Given the description of an element on the screen output the (x, y) to click on. 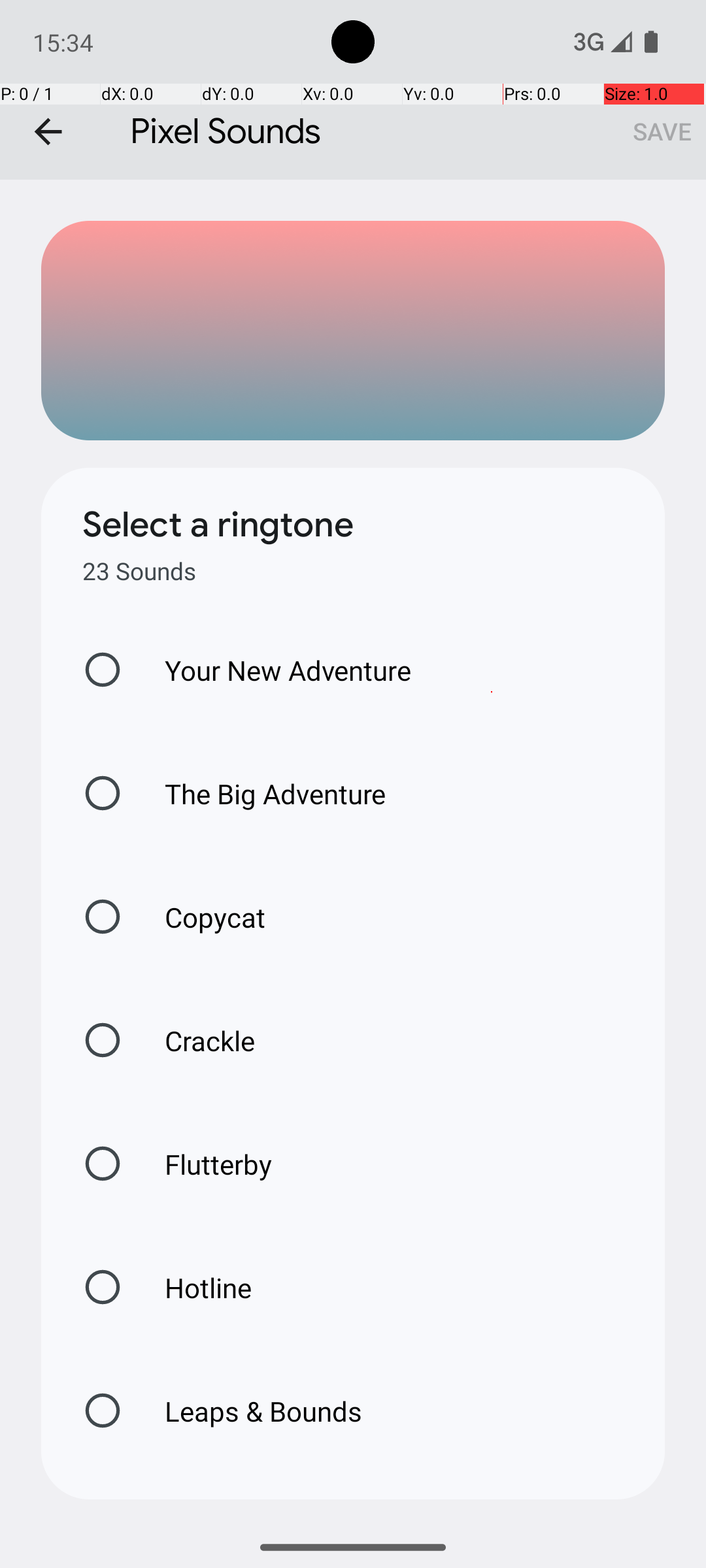
Your New Adventure Element type: android.widget.TextView (274, 669)
The Big Adventure Element type: android.widget.TextView (261, 793)
Copycat Element type: android.widget.TextView (201, 916)
Crackle Element type: android.widget.TextView (196, 1040)
Flutterby Element type: android.widget.TextView (204, 1163)
Hotline Element type: android.widget.TextView (194, 1287)
Leaps & Bounds Element type: android.widget.TextView (249, 1410)
